Given the description of an element on the screen output the (x, y) to click on. 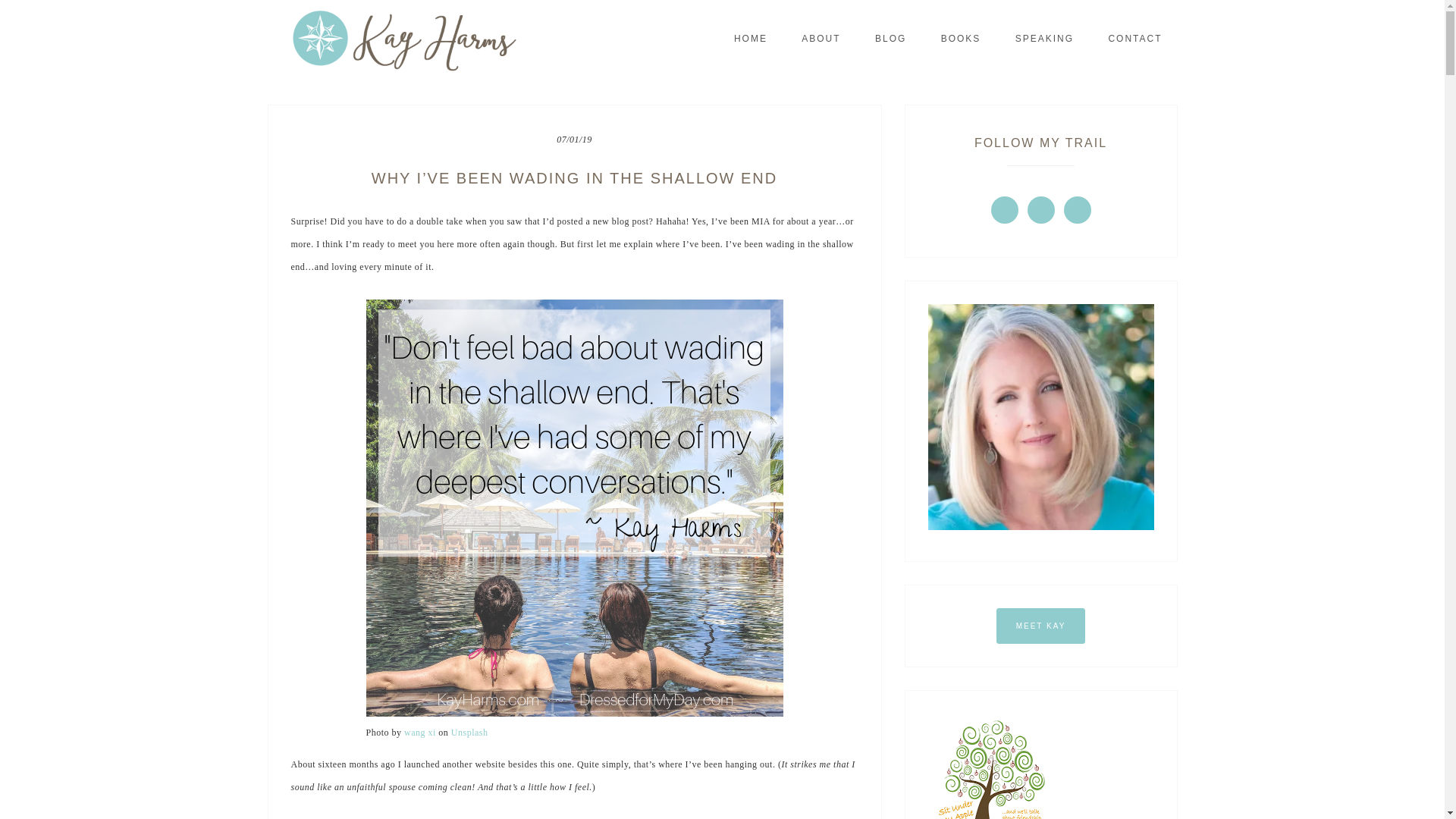
HOME (751, 38)
Unsplash (469, 732)
SPEAKING (1044, 38)
BOOKS (960, 38)
CONTACT (1134, 38)
ABOUT (821, 38)
Kay Harms (402, 40)
wang xi (419, 732)
BLOG (890, 38)
